Given the description of an element on the screen output the (x, y) to click on. 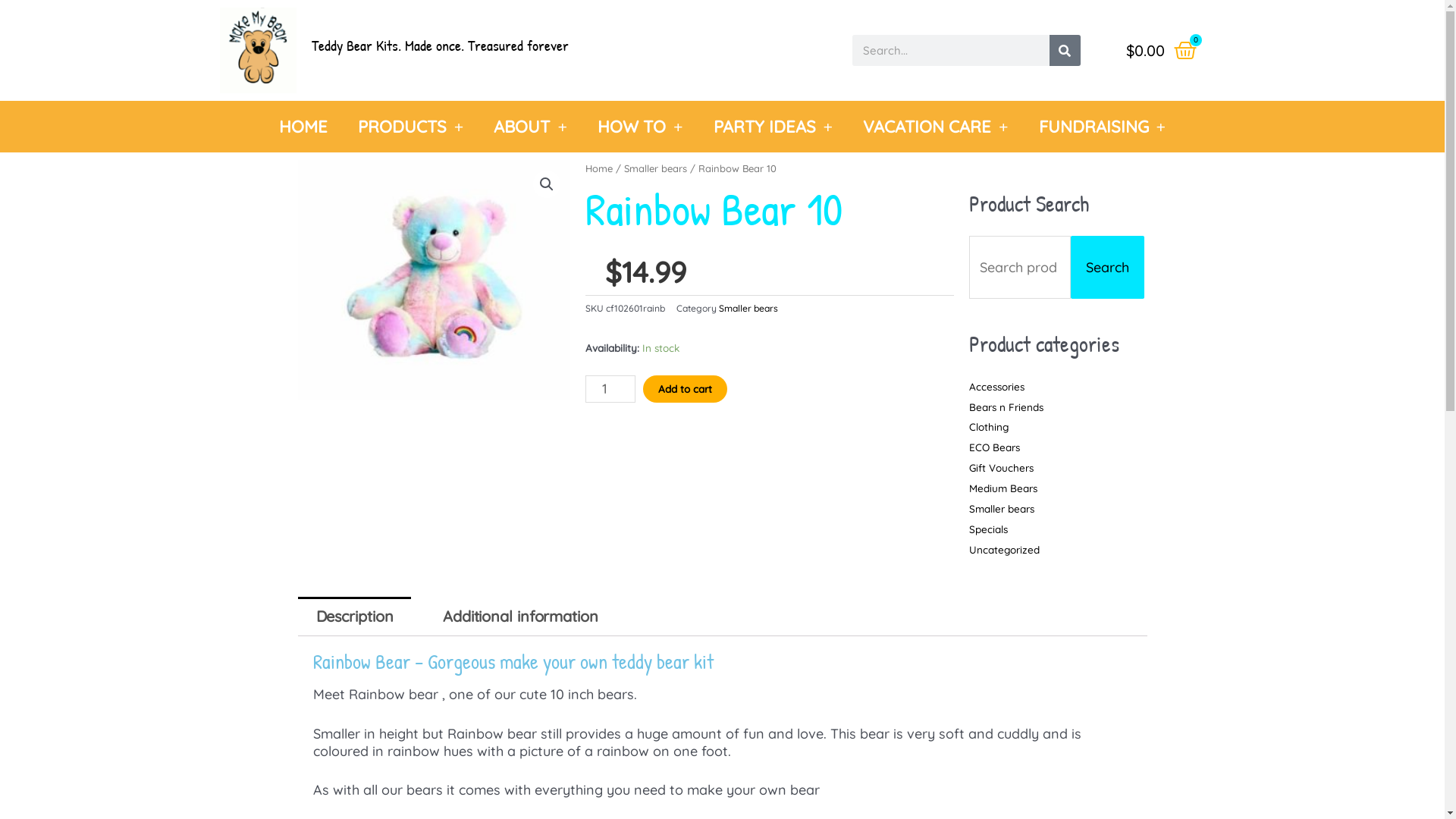
Smaller bears Element type: text (1001, 508)
Accessories Element type: text (996, 385)
ECO Bears Element type: text (994, 446)
ABOUT Element type: text (530, 126)
Search Element type: text (1064, 49)
PRODUCTS Element type: text (410, 126)
Medium Bears Element type: text (1003, 487)
Uncategorized Element type: text (1004, 548)
Gift Vouchers Element type: text (1001, 467)
Bears n Friends Element type: text (1006, 406)
HOME Element type: text (302, 126)
VACATION CARE Element type: text (935, 126)
Additional information Element type: text (520, 616)
$0.00
0
Cart Element type: text (1160, 50)
Specials Element type: text (988, 528)
FUNDRAISING Element type: text (1102, 126)
Smaller bears Element type: text (655, 168)
HOW TO Element type: text (640, 126)
PARTY IDEAS Element type: text (772, 126)
Clothing Element type: text (988, 426)
Smaller bears Element type: text (748, 307)
Add to cart Element type: text (685, 388)
Description Element type: text (354, 616)
2501 Element type: hover (433, 280)
Home Element type: text (598, 168)
Search Element type: text (1107, 266)
